Given the description of an element on the screen output the (x, y) to click on. 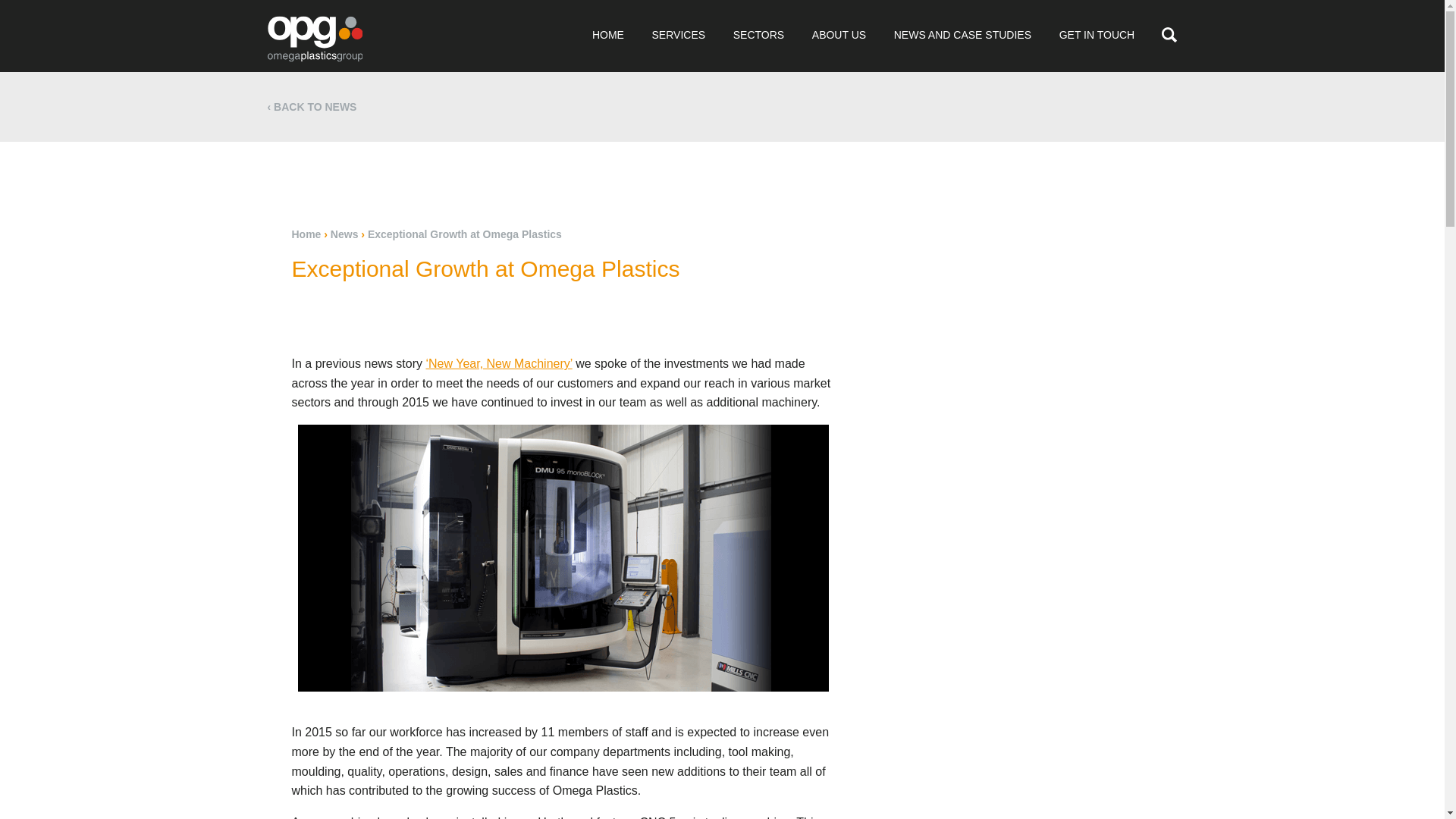
News (344, 234)
HOME (607, 34)
GET IN TOUCH (1096, 34)
SERVICES (678, 34)
ABOUT US (838, 34)
NEWS AND CASE STUDIES (961, 34)
Return to the Omega Plastics Group (314, 38)
View our News page (316, 106)
Home (305, 234)
SECTORS (758, 34)
